Given the description of an element on the screen output the (x, y) to click on. 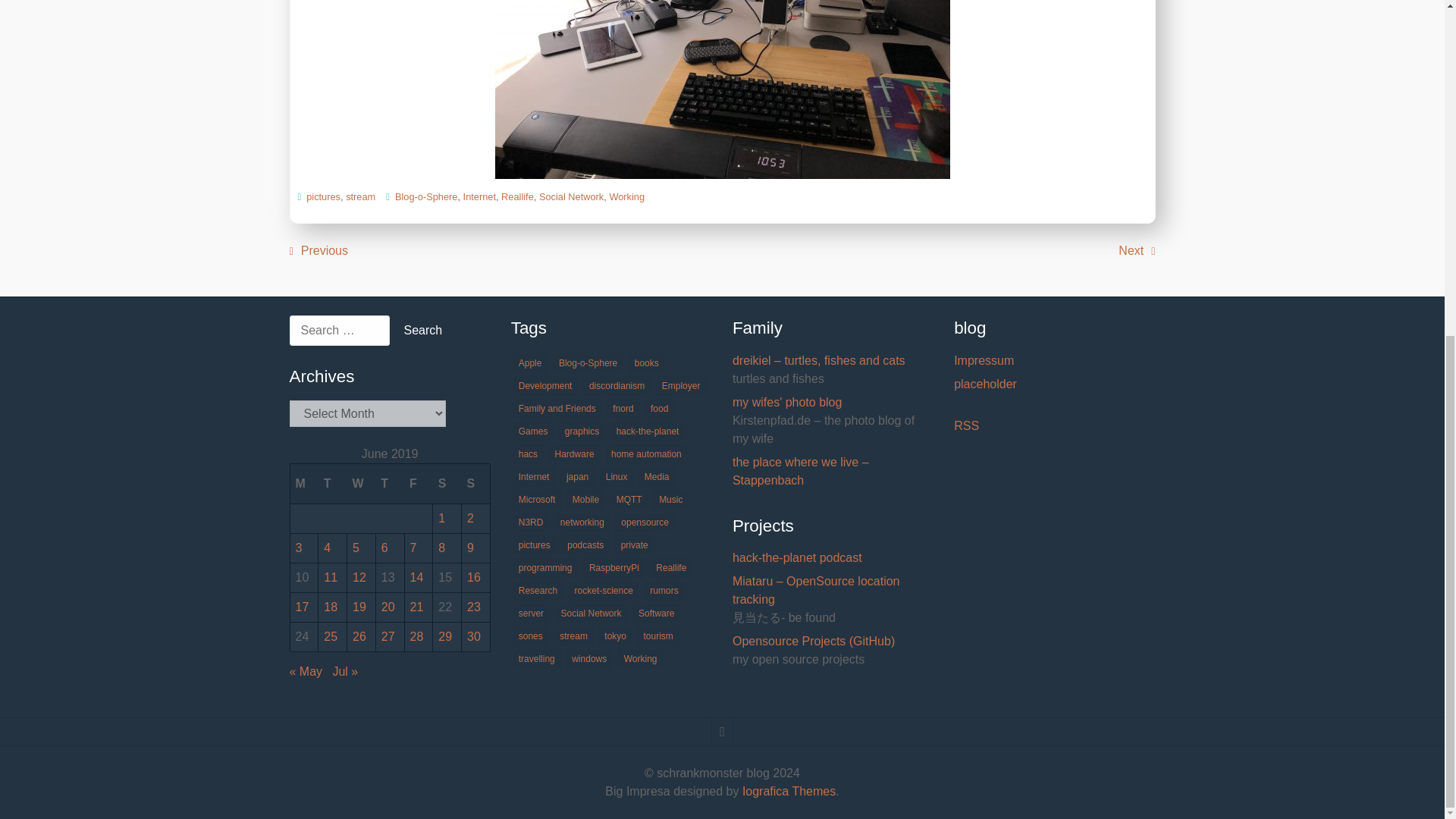
turtles and fishes (832, 361)
Next (1136, 250)
21 (416, 606)
Search (421, 330)
Search (421, 330)
12 (359, 576)
Internet (479, 196)
my open source projects (832, 641)
Search (421, 330)
11 (330, 576)
